Given the description of an element on the screen output the (x, y) to click on. 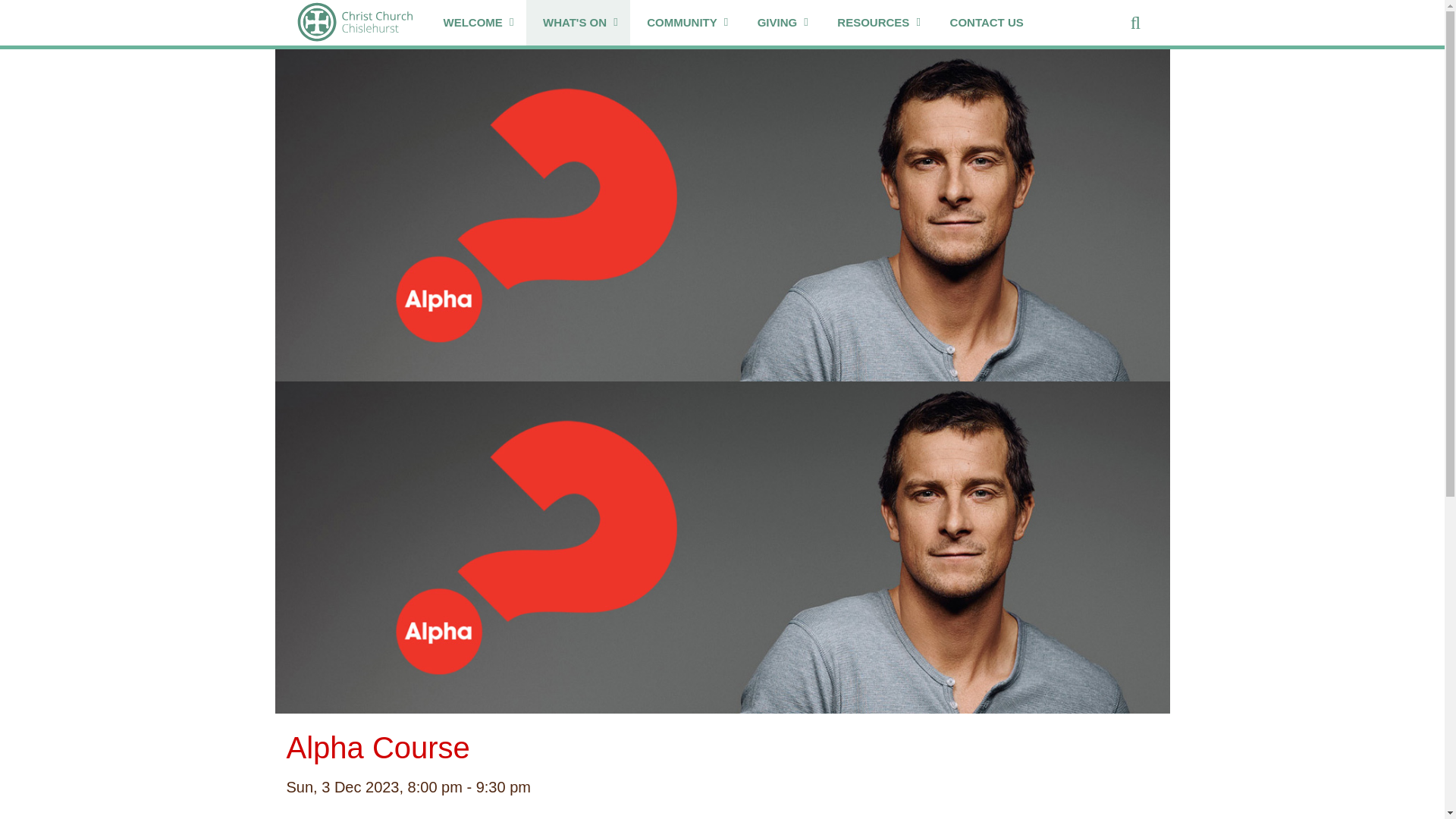
WELCOME (475, 22)
Christ Church Chislehurst (354, 22)
